Given the description of an element on the screen output the (x, y) to click on. 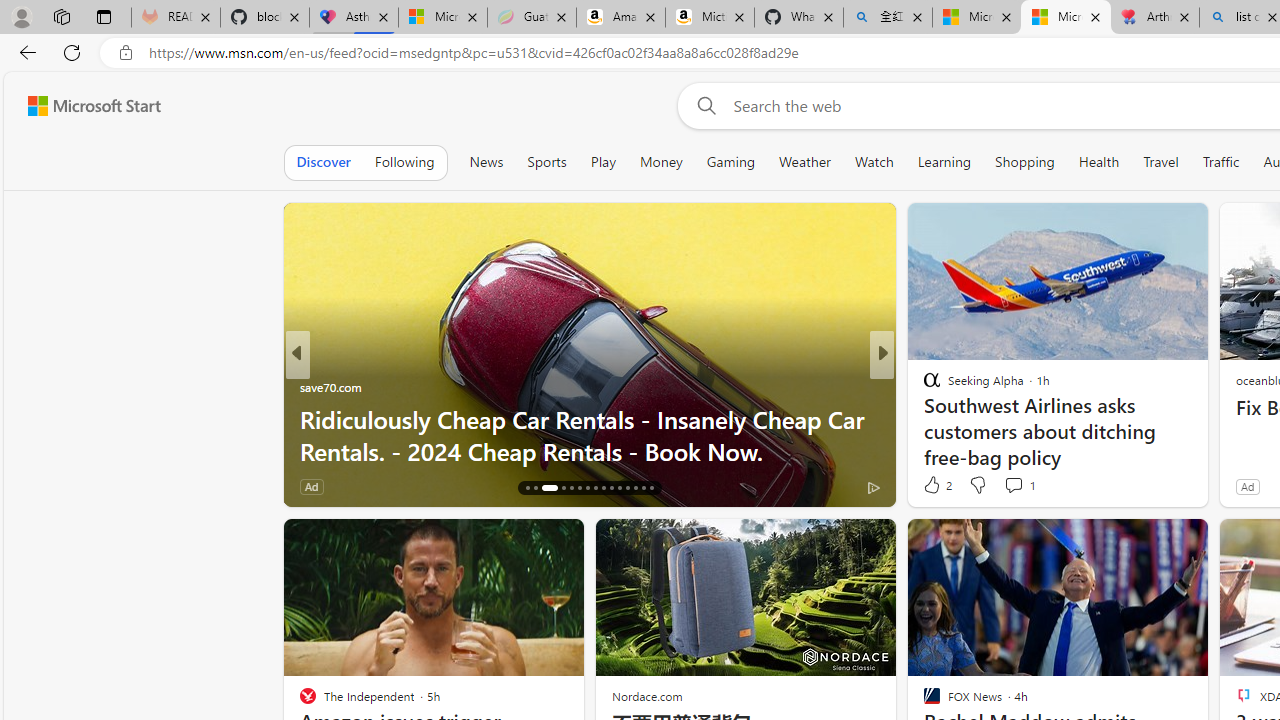
Microsoft Start (94, 105)
Travel (1160, 162)
The Independent (923, 386)
Play (603, 162)
Health (1099, 161)
Hide this story (1147, 542)
AutomationID: tab-28 (635, 487)
News (485, 162)
Sports (546, 161)
310 Like (936, 486)
25 Like (934, 486)
Traffic (1220, 161)
